Given the description of an element on the screen output the (x, y) to click on. 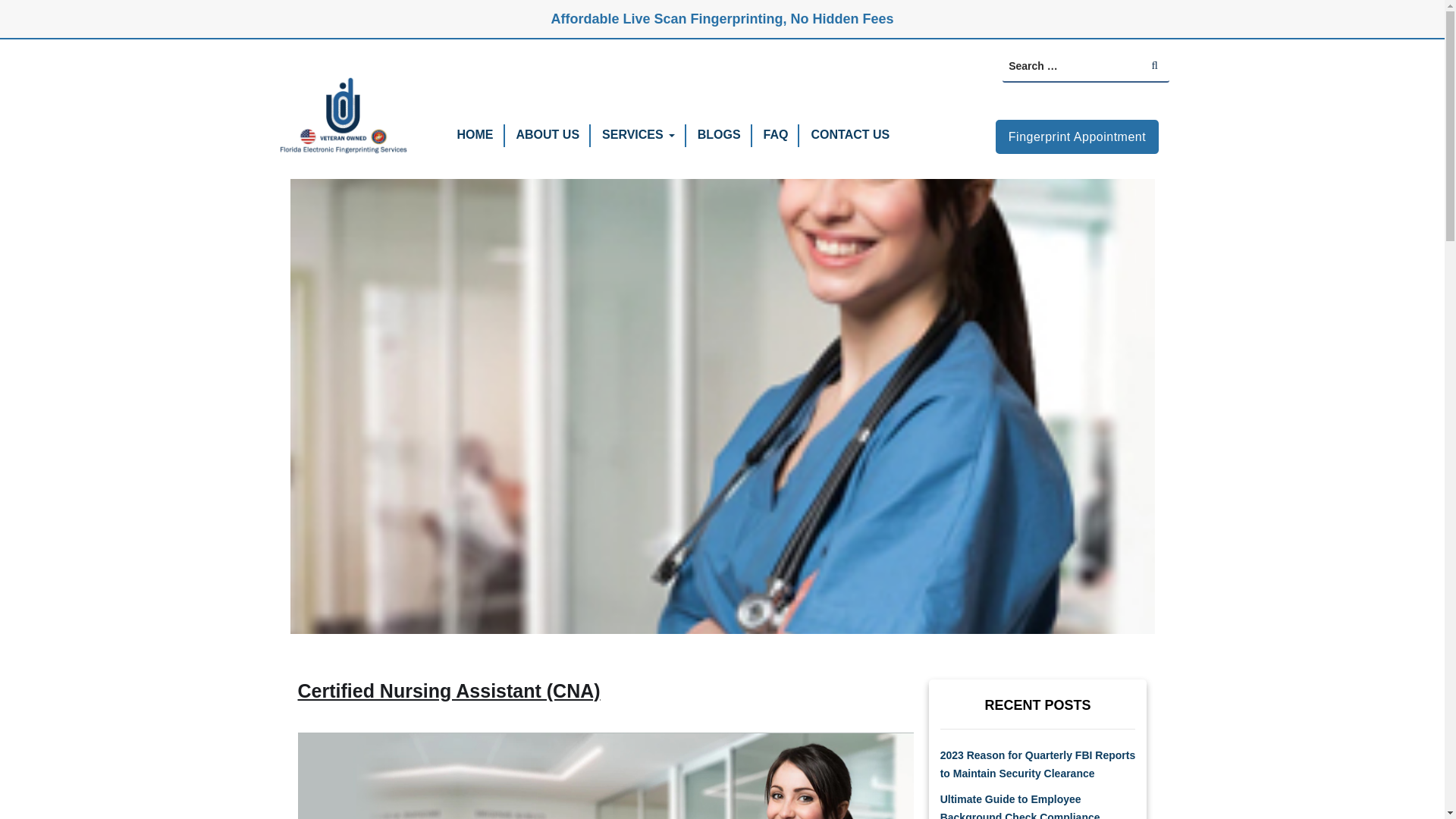
HOME (475, 133)
SERVICES (632, 133)
ABOUT US (547, 133)
